Given the description of an element on the screen output the (x, y) to click on. 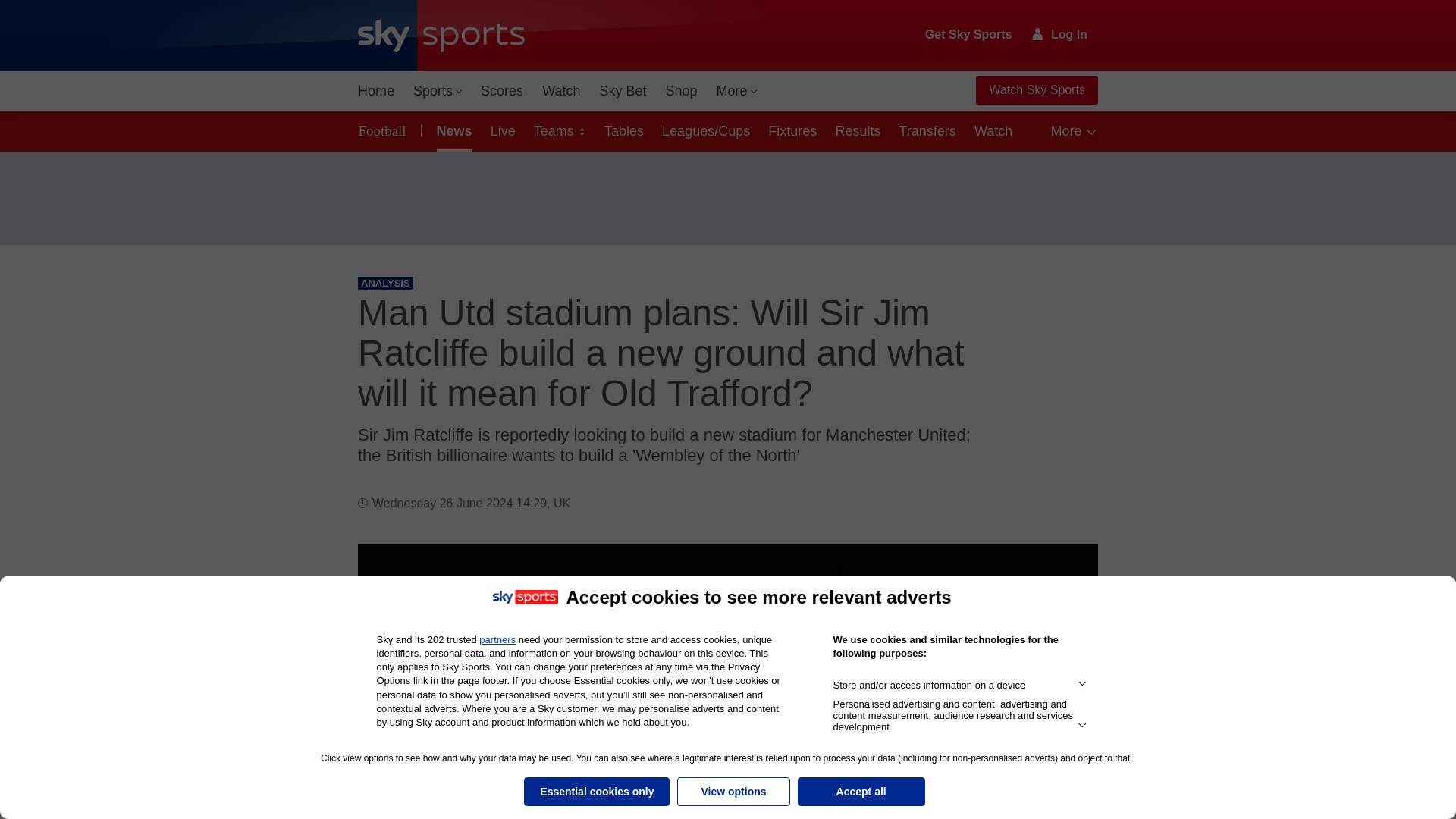
Home (375, 91)
Share (1067, 574)
Sports (437, 91)
More (736, 91)
Scores (502, 91)
Watch (561, 91)
Shop (681, 91)
Watch Sky Sports (1036, 90)
News (451, 130)
Football (385, 130)
Get Sky Sports (968, 34)
Log In (1060, 33)
Sky Bet (622, 91)
